Given the description of an element on the screen output the (x, y) to click on. 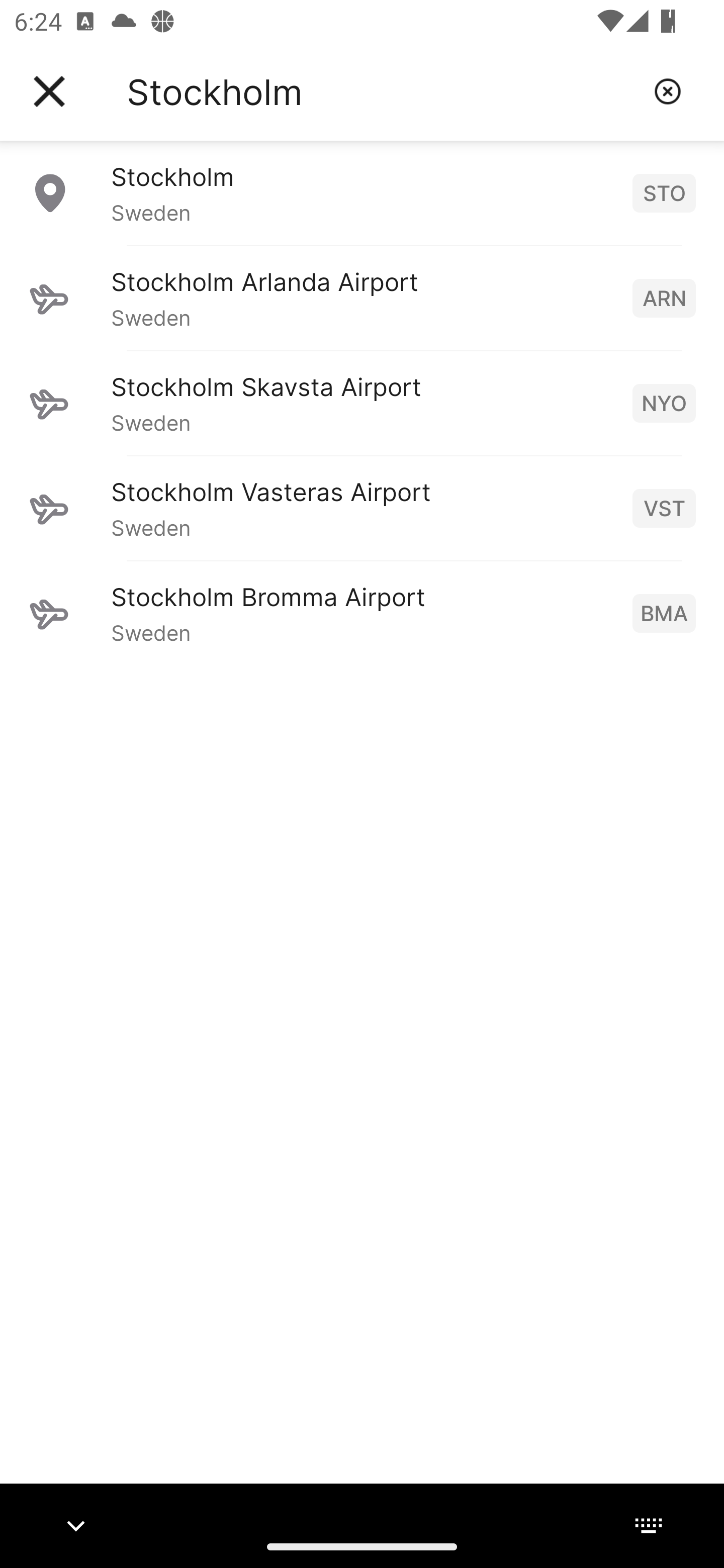
Stockholm (382, 91)
Stockholm Sweden STO (362, 192)
Stockholm Arlanda Airport Sweden ARN (362, 297)
Stockholm Skavsta Airport Sweden NYO (362, 402)
Stockholm Vasteras Airport Sweden VST (362, 507)
Stockholm Bromma Airport Sweden BMA (362, 612)
